Given the description of an element on the screen output the (x, y) to click on. 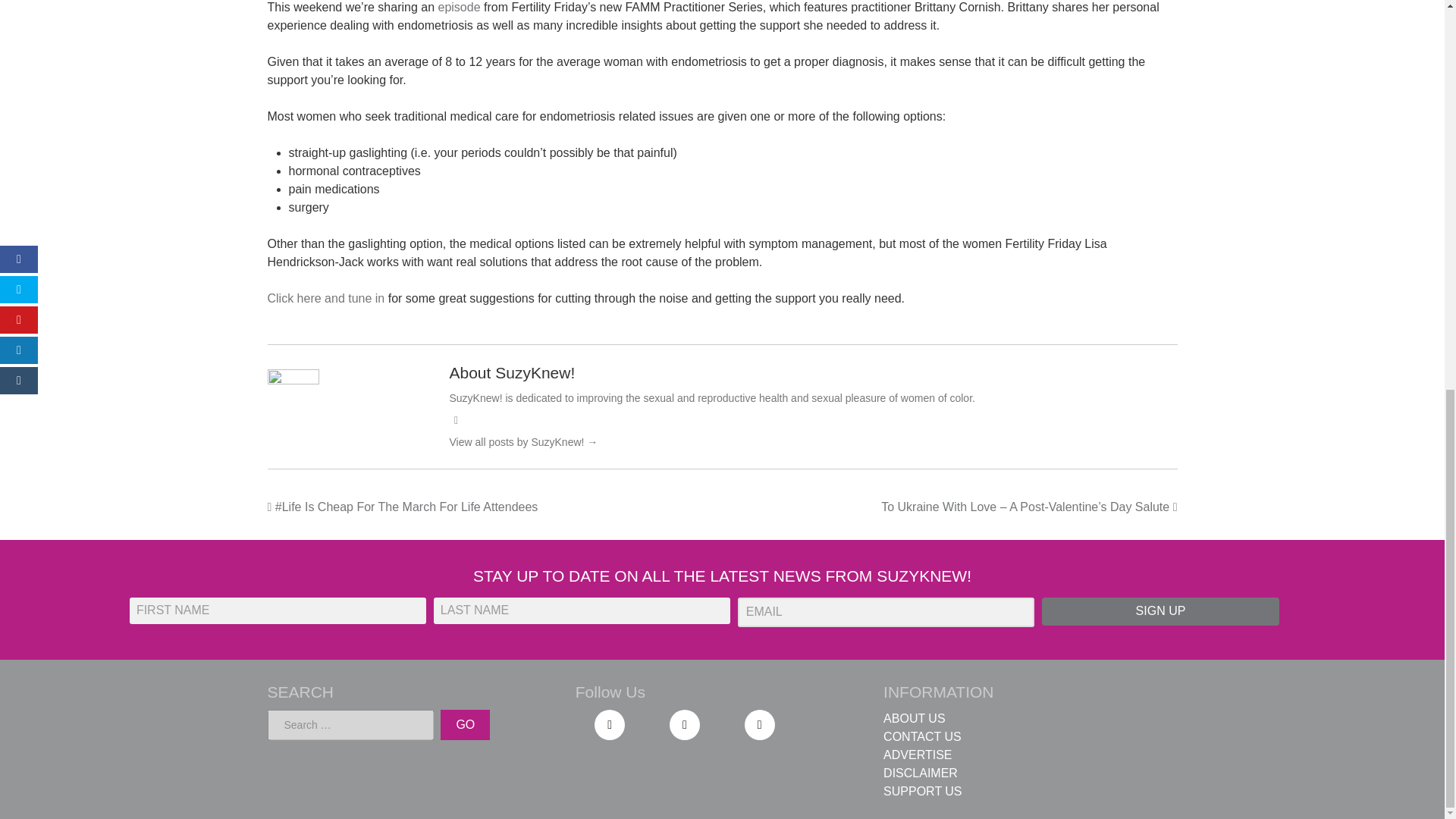
GO (465, 725)
ADVERTISE (917, 754)
CONTACT US (921, 736)
episode (459, 6)
SIGN UP (1160, 611)
GO (465, 725)
Click here and tune in (325, 297)
ABOUT US (913, 717)
Website (455, 419)
GO (465, 725)
